Given the description of an element on the screen output the (x, y) to click on. 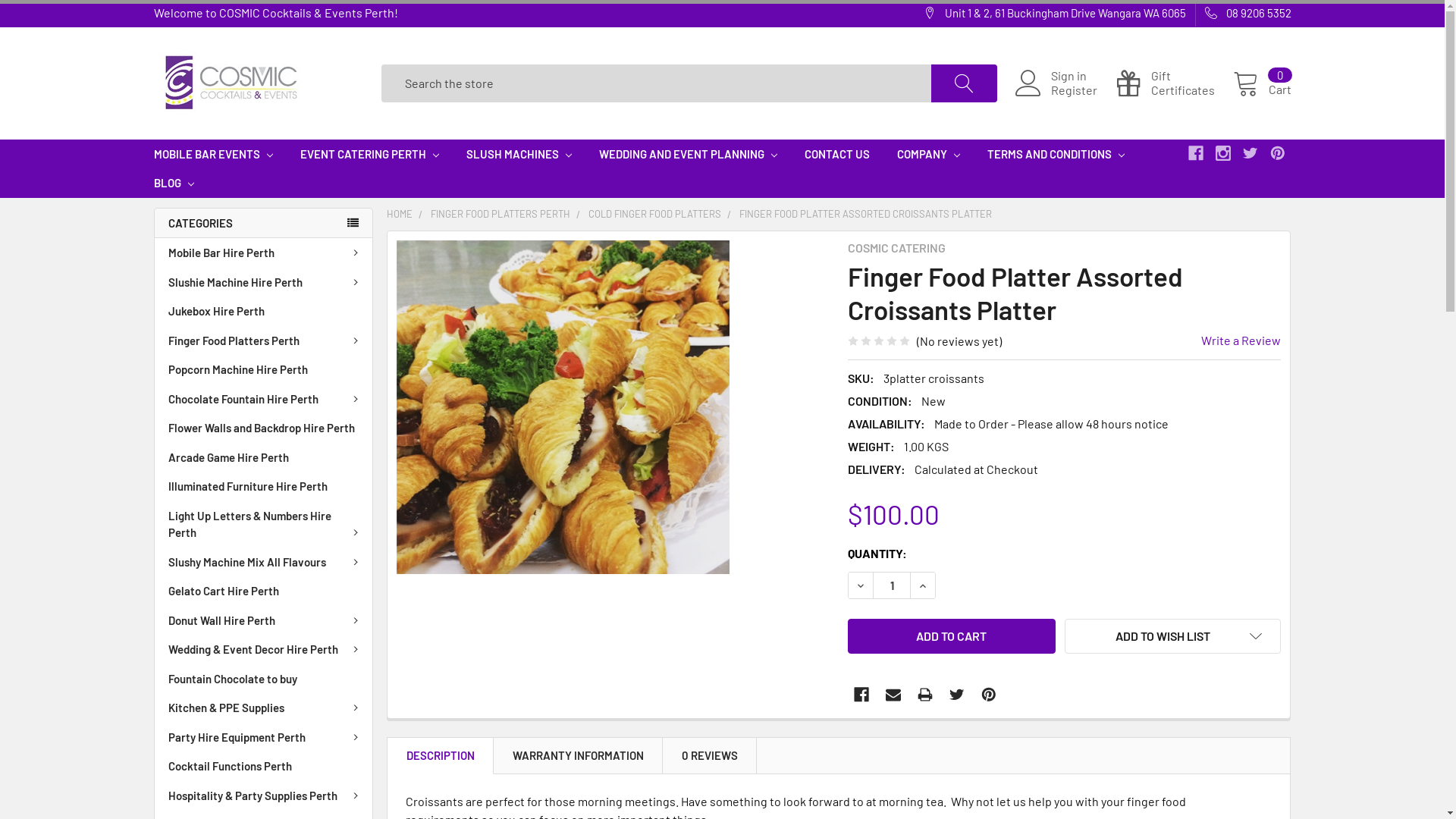
BLOG Element type: text (173, 182)
Flower Walls and Backdrop Hire Perth Element type: text (263, 427)
Cart
0 Element type: text (1262, 82)
COLD FINGER FOOD PLATTERS Element type: text (654, 213)
DECREASE QUANTITY: Element type: text (860, 585)
Popcorn Machine Hire Perth Element type: text (263, 369)
EVENT CATERING PERTH Element type: text (369, 154)
Gelato Cart Hire Perth Element type: text (263, 590)
Arcade Game Hire Perth Element type: text (263, 457)
CATEGORIES Element type: text (262, 222)
Jukebox Hire Perth Element type: text (263, 311)
HOME Element type: text (399, 213)
Hospitality & Party Supplies Perth Element type: text (263, 795)
Gift
Certificates Element type: text (1173, 83)
Register Element type: text (1083, 90)
Write a Review Element type: text (1240, 339)
Slushie Machine Hire Perth Element type: text (263, 281)
CONTACT US Element type: text (836, 154)
ADD TO WISH LIST Element type: text (1172, 635)
Sign in Element type: text (1083, 75)
Party Hire Equipment Perth Element type: text (263, 736)
Light Up Letters & Numbers Hire Perth Element type: text (263, 523)
WARRANTY INFORMATION Element type: text (578, 755)
COSMIC CATERING Element type: text (896, 247)
MOBILE BAR EVENTS Element type: text (212, 154)
Donut Wall Hire Perth Element type: text (263, 619)
Wedding & Event Decor Hire Perth Element type: text (263, 649)
Finger Food Platters Perth Element type: text (263, 340)
Search Element type: text (973, 82)
Mobile Bar Hire Perth Element type: text (263, 252)
FINGER FOOD PLATTER ASSORTED CROISSANTS PLATTER Element type: text (865, 213)
Fountain Chocolate to buy Element type: text (263, 678)
0 REVIEWS Element type: text (709, 755)
FINGER FOOD PLATTERS PERTH Element type: text (500, 213)
Chocolate Fountain Hire Perth Element type: text (263, 398)
COMPANY Element type: text (927, 154)
Illuminated Furniture Hire Perth Element type: text (263, 486)
Kitchen & PPE Supplies Element type: text (263, 707)
Cocktail Functions Perth Element type: text (263, 766)
INCREASE QUANTITY: Element type: text (922, 585)
COSMIC Cocktails & Events Perth Element type: hover (230, 83)
SLUSH MACHINES Element type: text (517, 154)
08 9206 5352 Element type: text (1242, 13)
DESCRIPTION Element type: text (440, 755)
Add to Cart Element type: text (951, 635)
WEDDING AND EVENT PLANNING Element type: text (687, 154)
TERMS AND CONDITIONS Element type: text (1055, 154)
Slushy Machine Mix All Flavours Element type: text (263, 562)
